Given the description of an element on the screen output the (x, y) to click on. 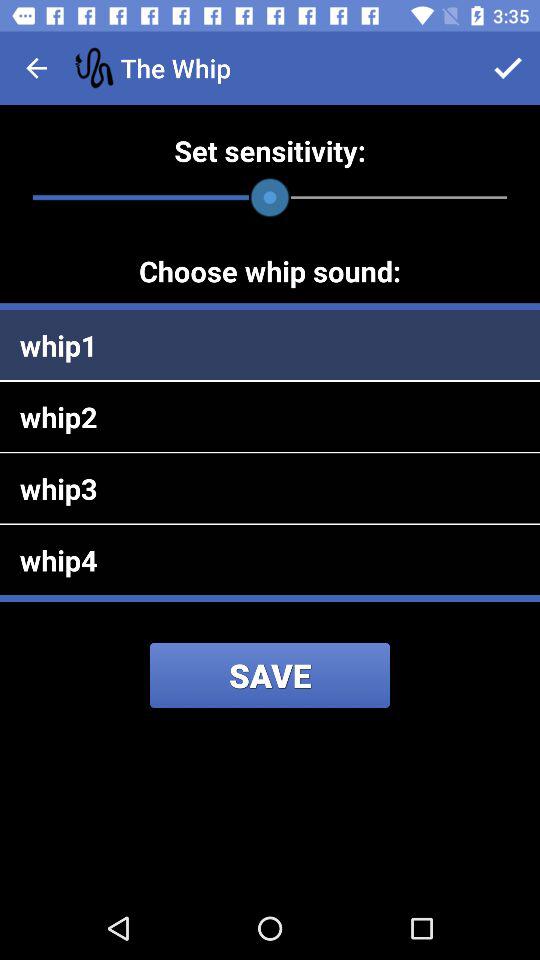
select the icon next to the the whip icon (508, 67)
